Given the description of an element on the screen output the (x, y) to click on. 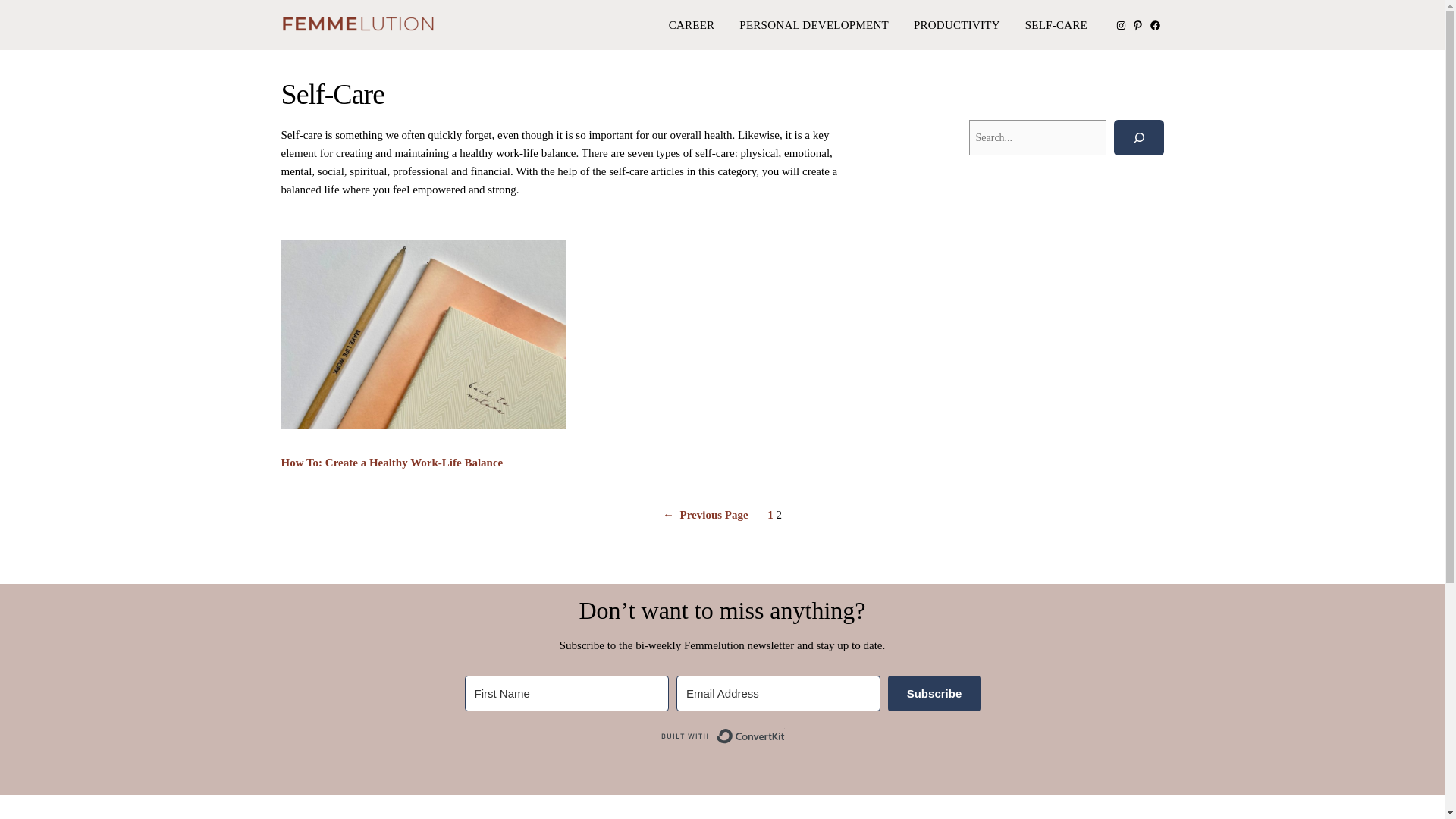
PERSONAL DEVELOPMENT (813, 25)
How To: Create a Healthy Work-Life Balance (391, 462)
Built with ConvertKit (722, 736)
FACEBOOK (1155, 25)
PINTEREST (1138, 25)
Subscribe (933, 693)
INSTAGRAM (1120, 25)
CAREER (691, 25)
PRODUCTIVITY (957, 25)
SELF-CARE (1056, 25)
